Given the description of an element on the screen output the (x, y) to click on. 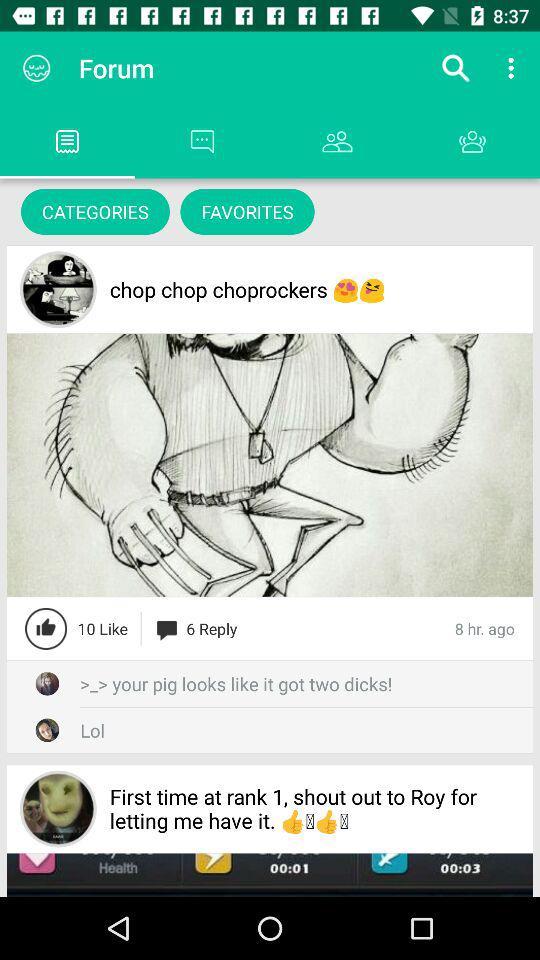
click the categories item (95, 211)
